Given the description of an element on the screen output the (x, y) to click on. 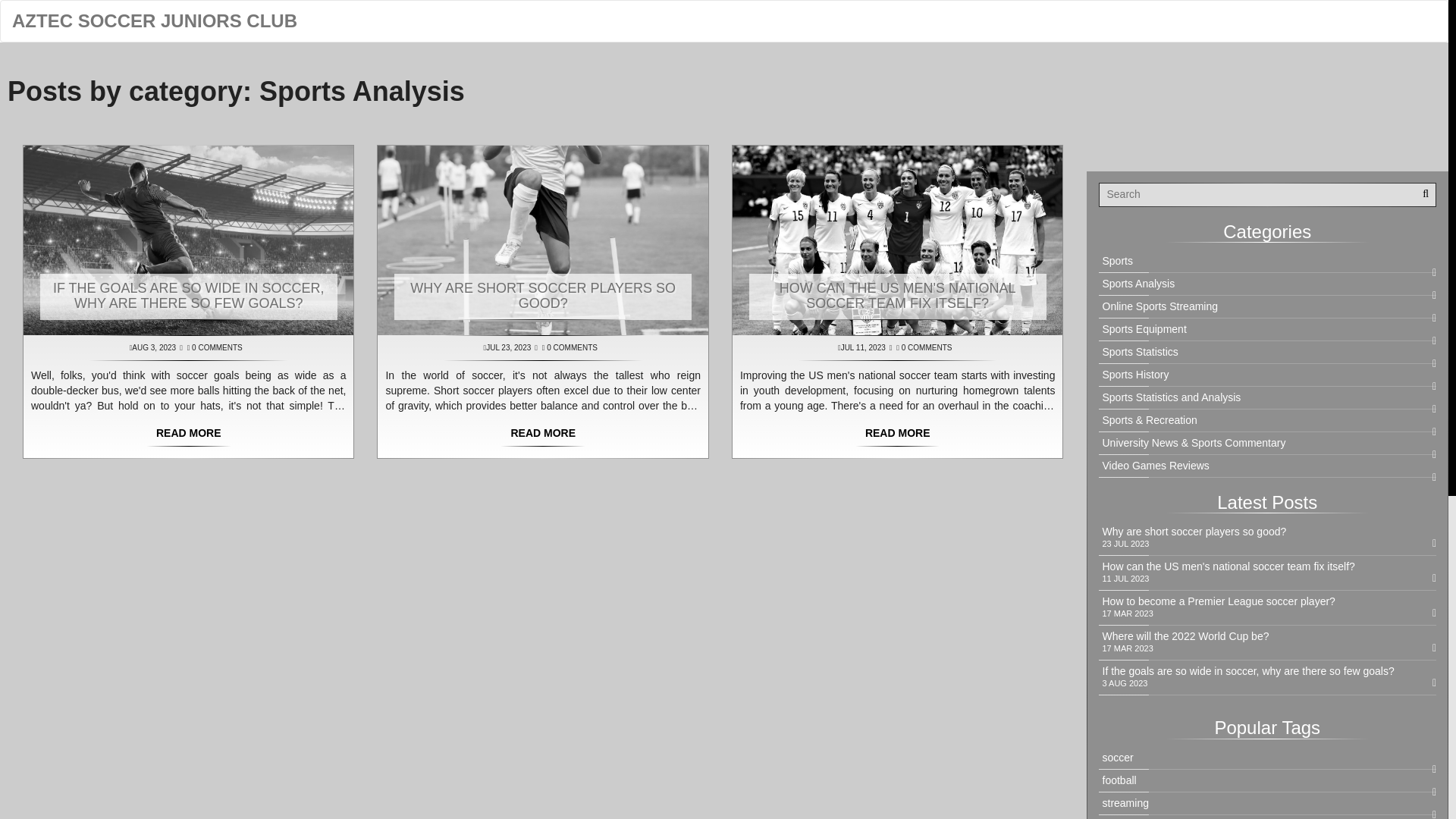
Sports History (1267, 374)
WHY ARE SHORT SOCCER PLAYERS SO GOOD? (542, 295)
Video Games Reviews (1267, 465)
football (1267, 780)
How can the US men's national soccer team fix itself? (1267, 566)
How to become a Premier League soccer player? (1267, 601)
READ MORE (188, 433)
Sports Analysis (1267, 283)
HOW CAN THE US MEN'S NATIONAL SOCCER TEAM FIX ITSELF? (897, 295)
Sports (1267, 260)
Online Sports Streaming (1267, 306)
Sports Equipment (1267, 328)
AZTEC SOCCER JUNIORS CLUB (154, 20)
How can the US men's national soccer team fix itself? (897, 433)
